Given the description of an element on the screen output the (x, y) to click on. 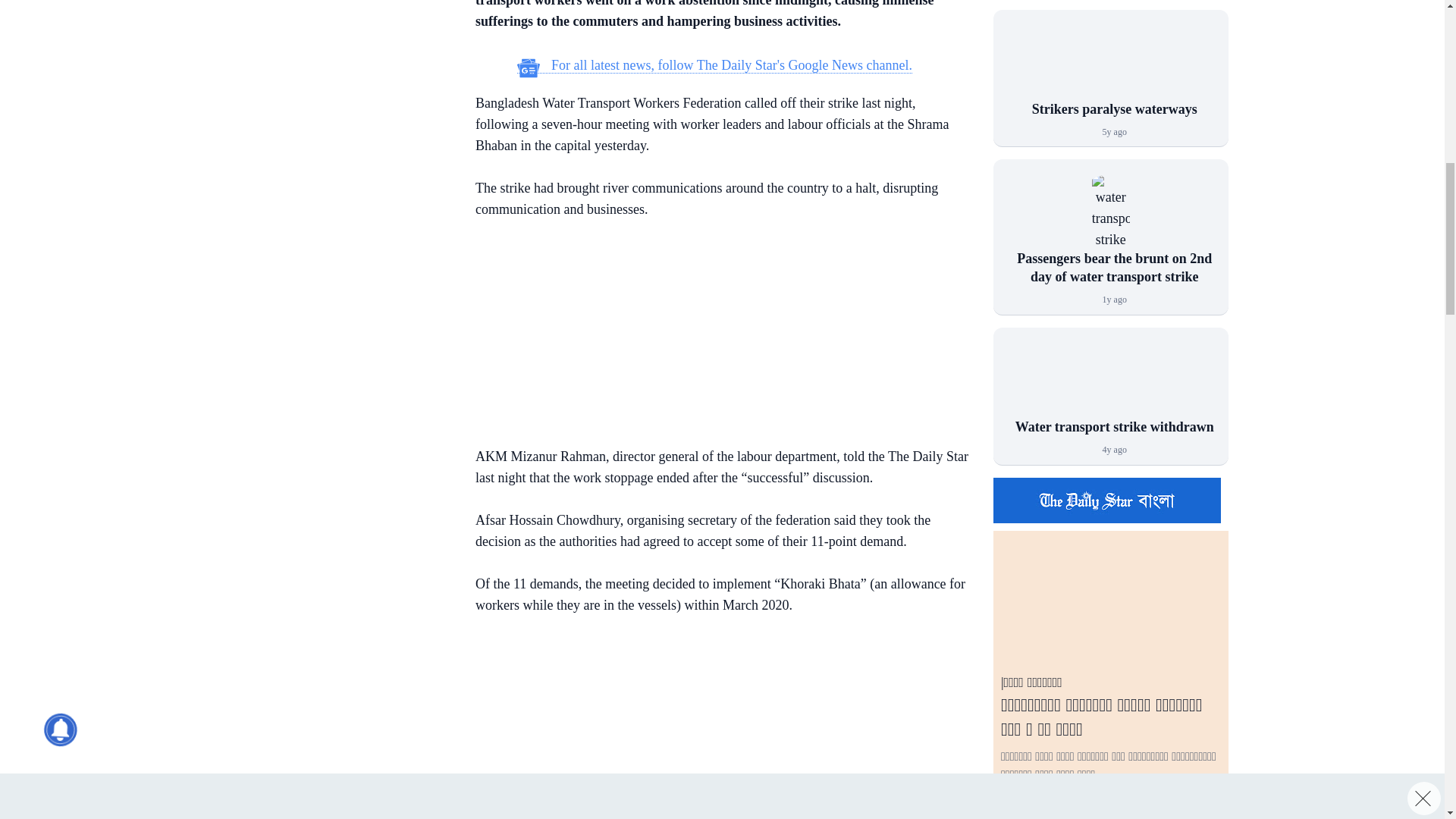
3rd party ad content (332, 24)
3rd party ad content (332, 159)
3rd party ad content (713, 335)
3rd party ad content (713, 728)
